Given the description of an element on the screen output the (x, y) to click on. 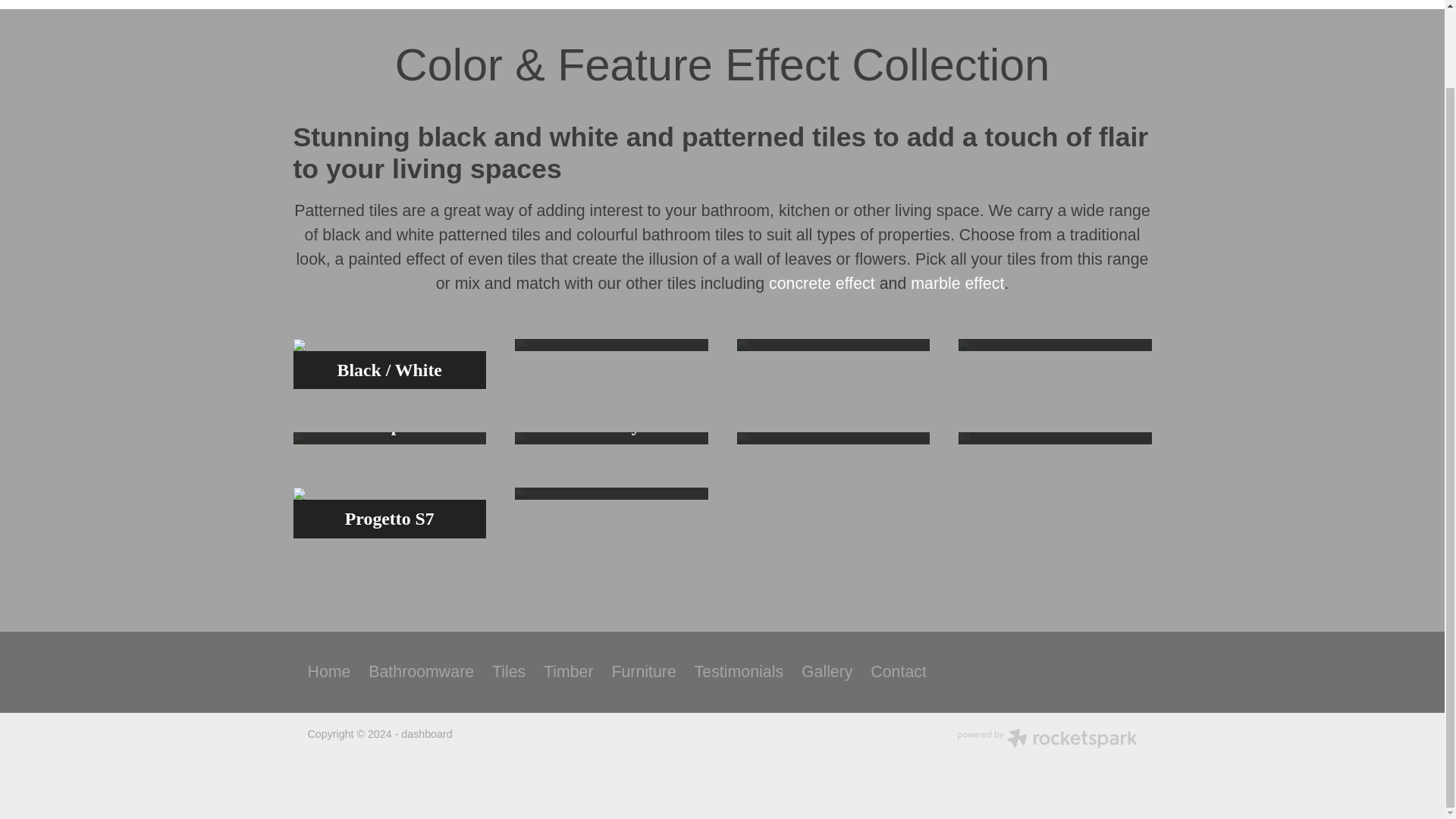
Furniture (643, 671)
Glaze (833, 345)
Contact (897, 671)
La Chic (1054, 345)
Testimonials (738, 671)
Fusion (611, 493)
marble effect (957, 283)
Progetto S7 (389, 512)
Rocketspark website builder (1046, 740)
concrete effect (821, 283)
